Given the description of an element on the screen output the (x, y) to click on. 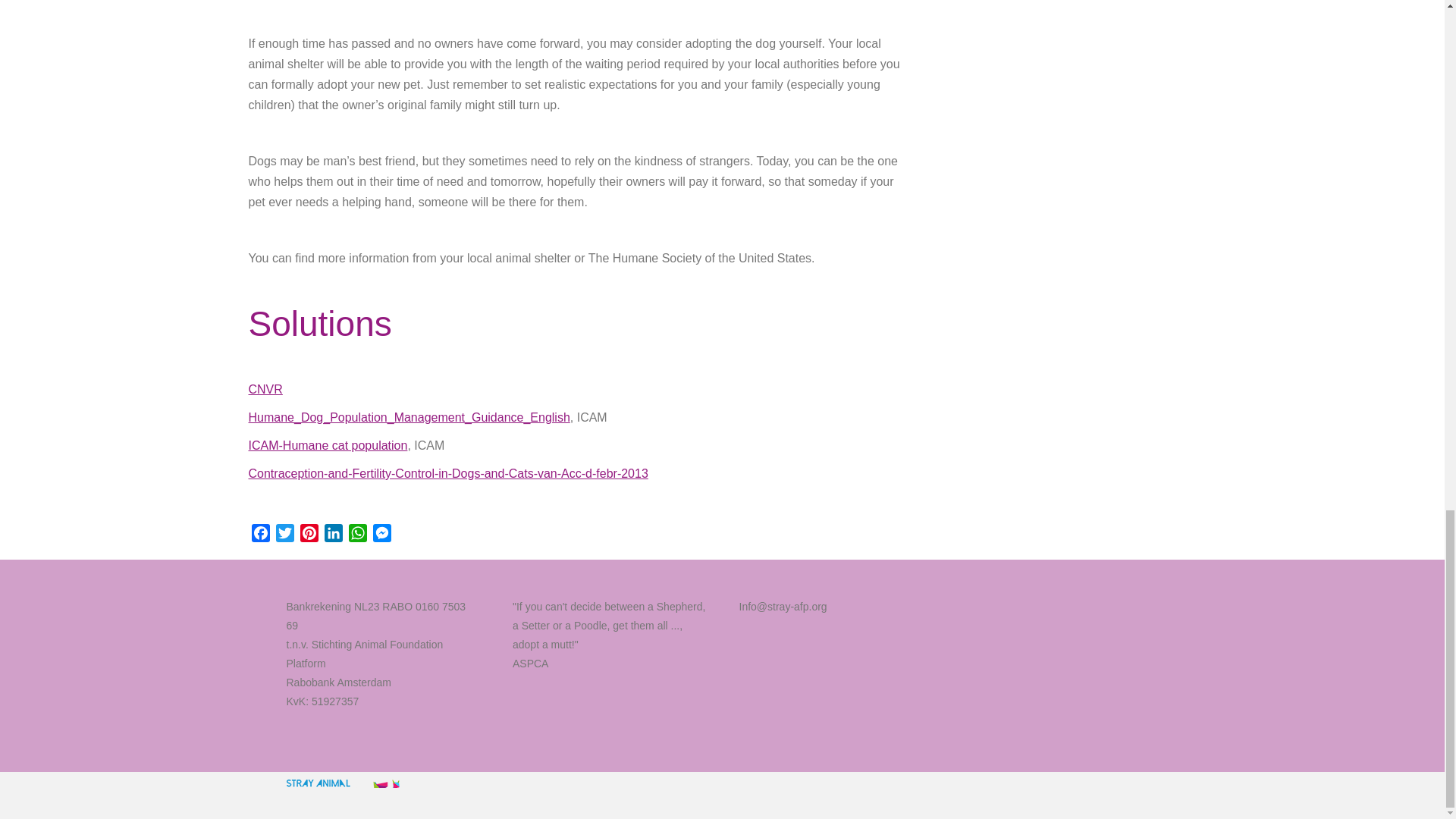
Facebook (260, 535)
WhatsApp (357, 535)
Messenger (381, 535)
ICAM-Humane cat population (327, 445)
Twitter (285, 535)
CNV (265, 389)
WhatsApp (357, 535)
Messenger (381, 535)
LinkedIn (333, 535)
Twitter (285, 535)
Pinterest (309, 535)
LinkedIn (333, 535)
Pinterest (309, 535)
Facebook (260, 535)
